Given the description of an element on the screen output the (x, y) to click on. 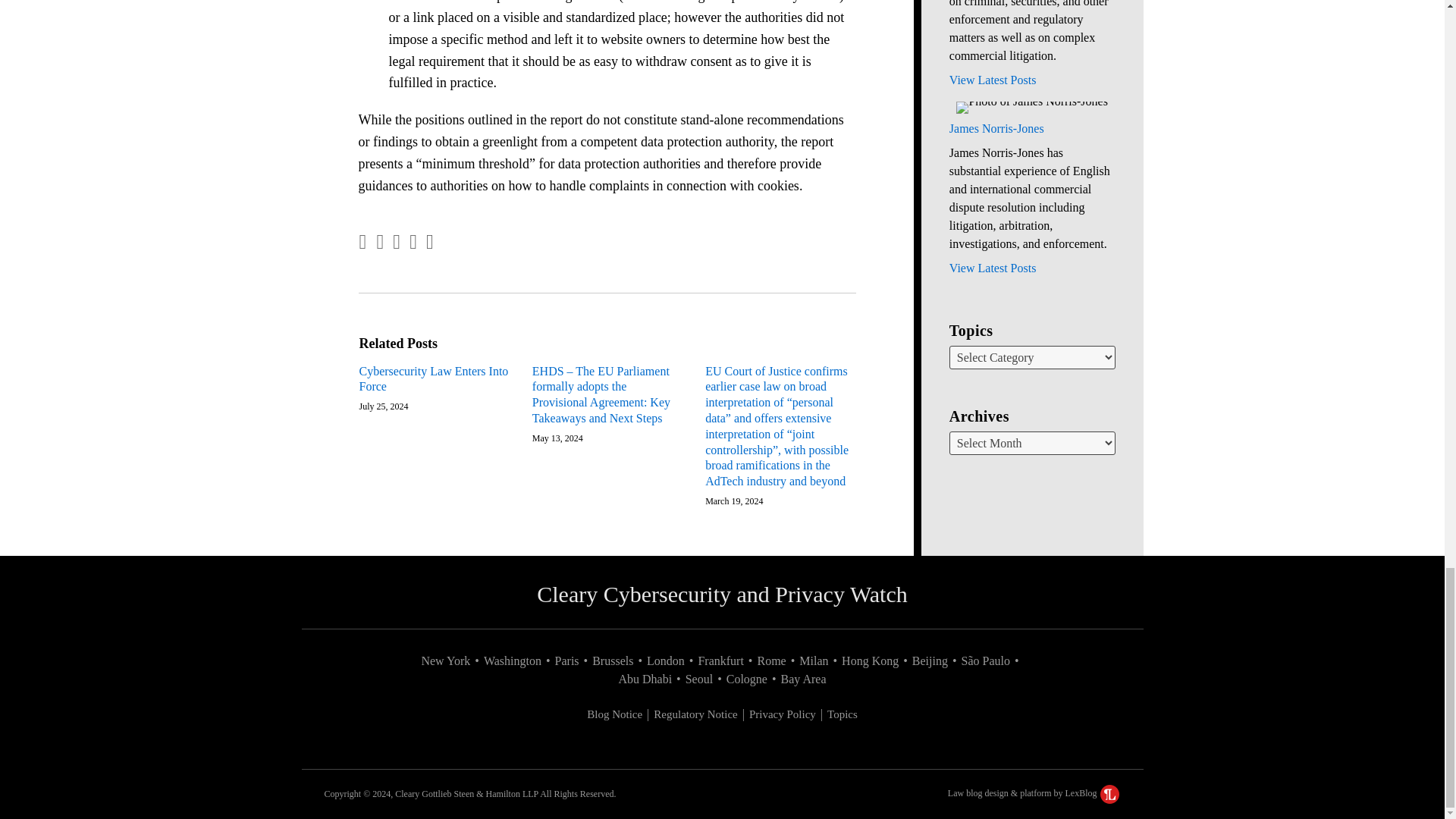
LexBlog Logo (1109, 793)
Cybersecurity Law Enters Into Force (434, 379)
